Given the description of an element on the screen output the (x, y) to click on. 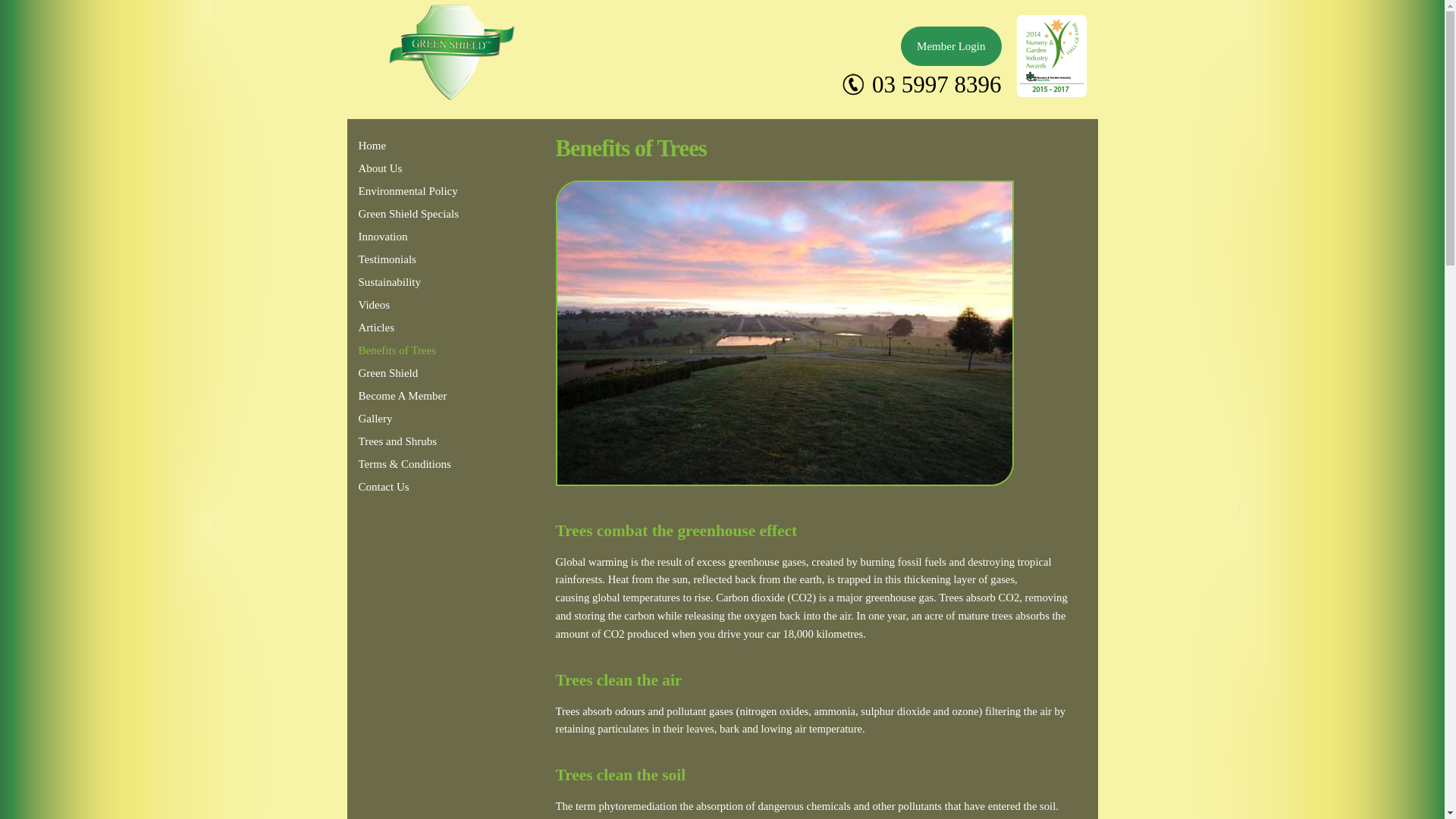
Videos Element type: text (408, 304)
Sustainability Element type: text (408, 281)
Member Login Element type: text (950, 45)
About Us Element type: text (408, 167)
Benefits of Trees Element type: text (408, 349)
Green Shield Element type: text (408, 372)
Terms & Conditions Element type: text (408, 463)
Become A Member Element type: text (408, 395)
Articles Element type: text (408, 327)
Gallery Element type: text (408, 418)
Green Shield Specials Element type: text (408, 213)
Environmental Policy Element type: text (408, 190)
Innovation Element type: text (408, 236)
Testimonials Element type: text (408, 258)
Home Element type: text (408, 145)
Contact Us Element type: text (408, 486)
Trees and Shrubs Element type: text (408, 440)
